Given the description of an element on the screen output the (x, y) to click on. 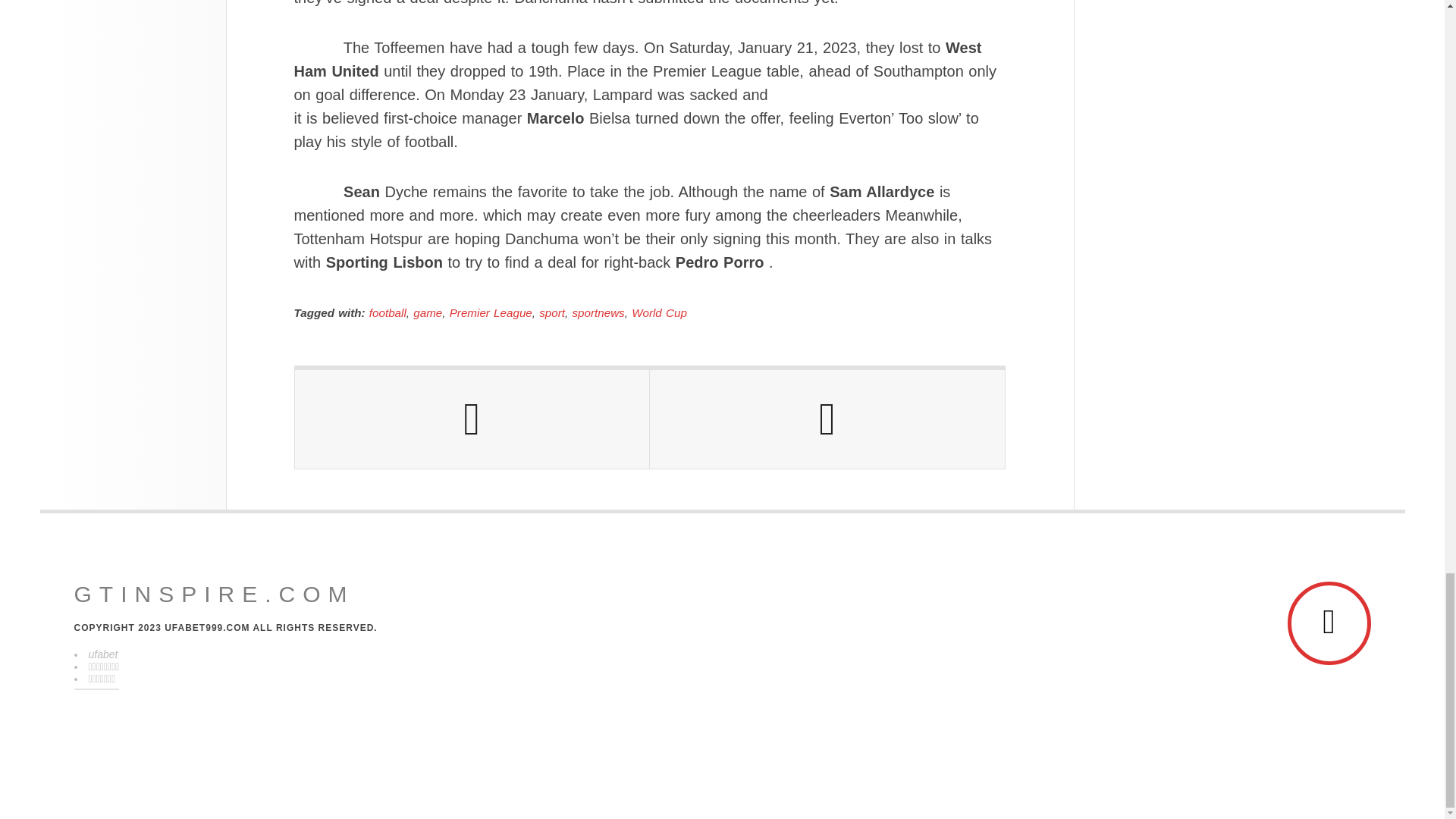
World Cup (659, 312)
Next Post (826, 419)
sportnews (598, 312)
football (387, 312)
GTINSPIRE.COM (214, 594)
ufabet (102, 654)
gtinspire.com (214, 594)
Premier League (490, 312)
game (427, 312)
sport (551, 312)
